Given the description of an element on the screen output the (x, y) to click on. 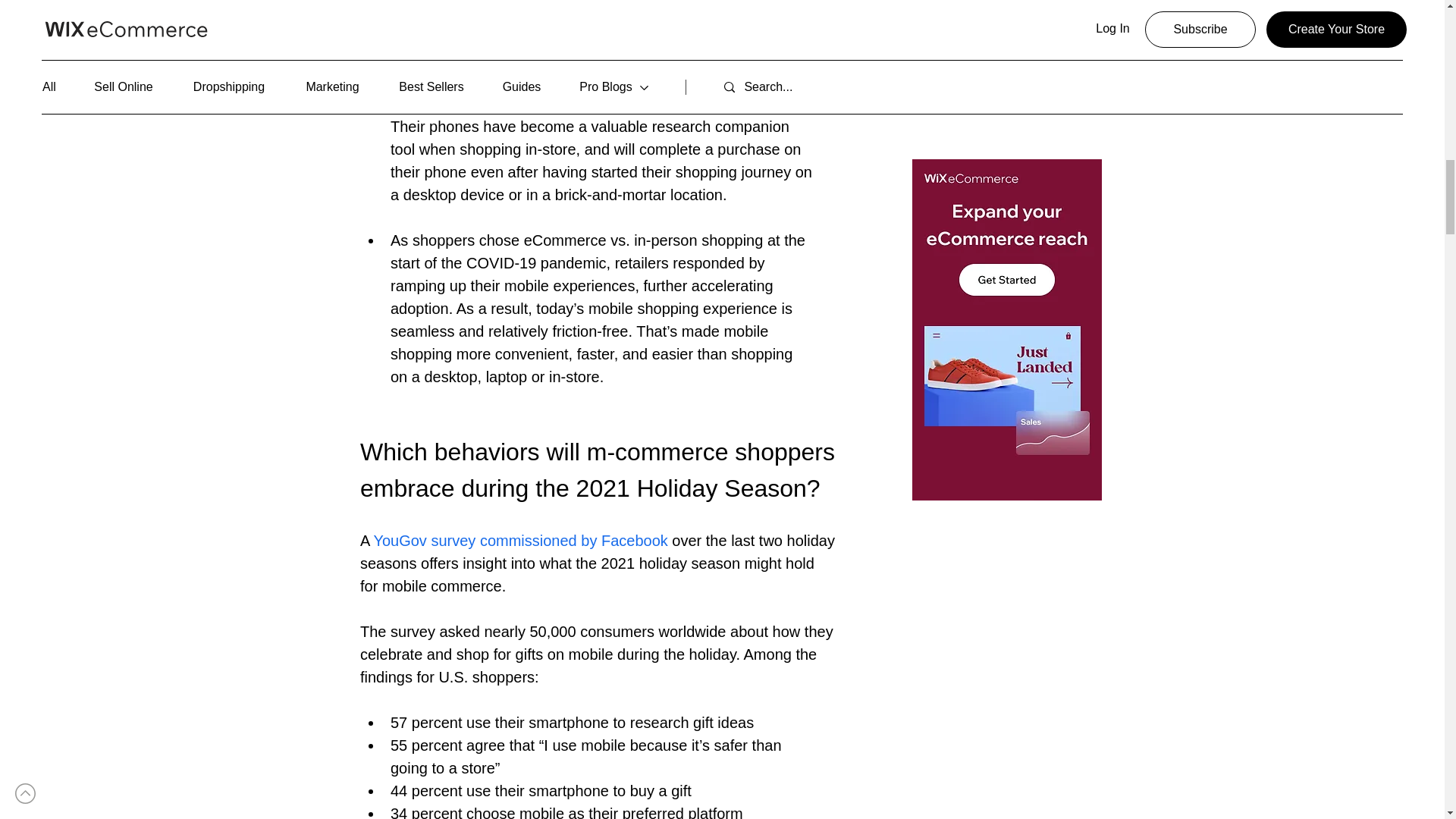
YouGov survey commissioned by Facebook  (521, 540)
